Given the description of an element on the screen output the (x, y) to click on. 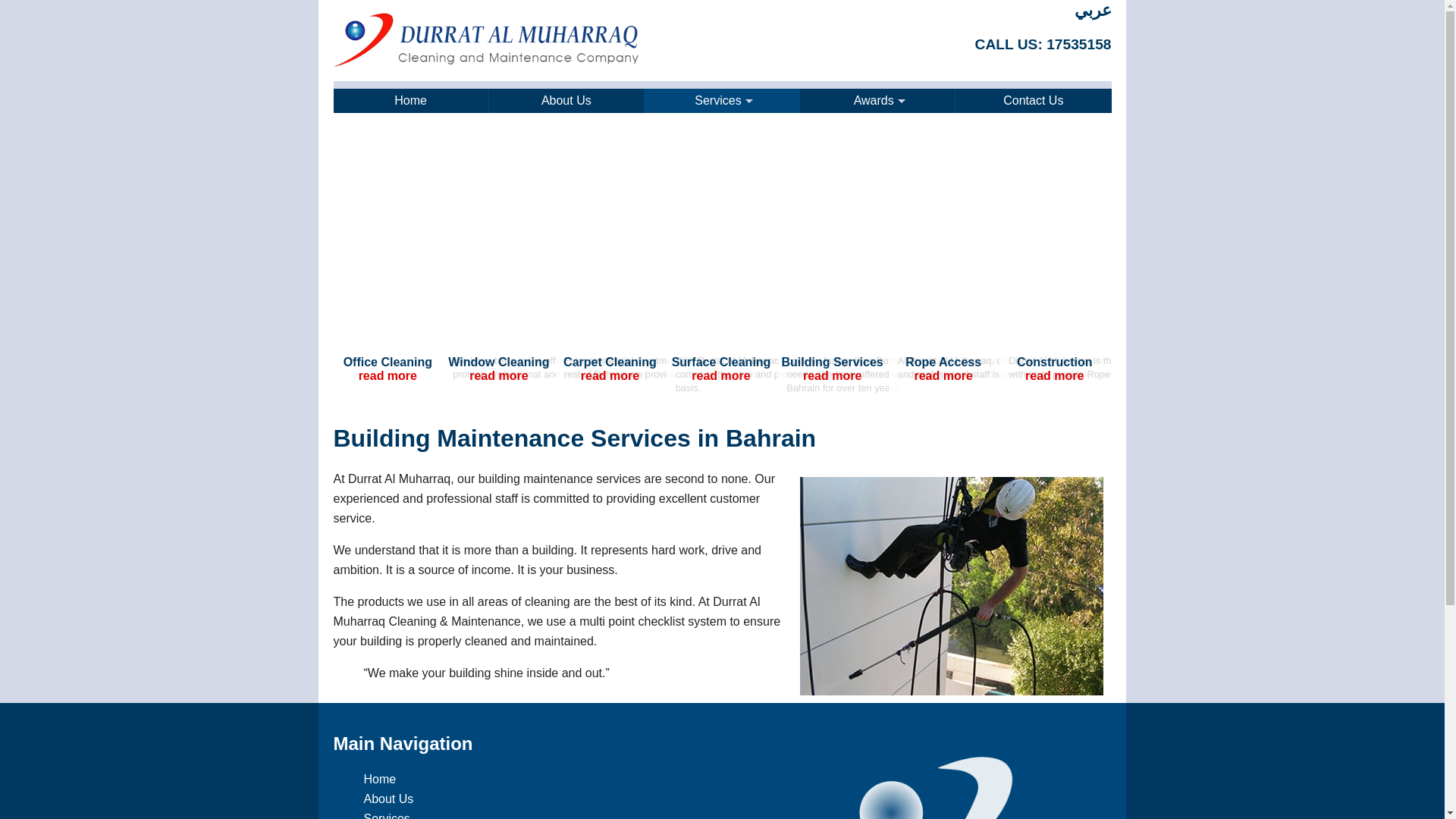
read more (1054, 375)
read more (387, 375)
About Us (388, 798)
read more (720, 375)
read more (943, 375)
Services (722, 100)
read more (832, 375)
read more (609, 375)
Home (411, 100)
Awards (877, 100)
